Given the description of an element on the screen output the (x, y) to click on. 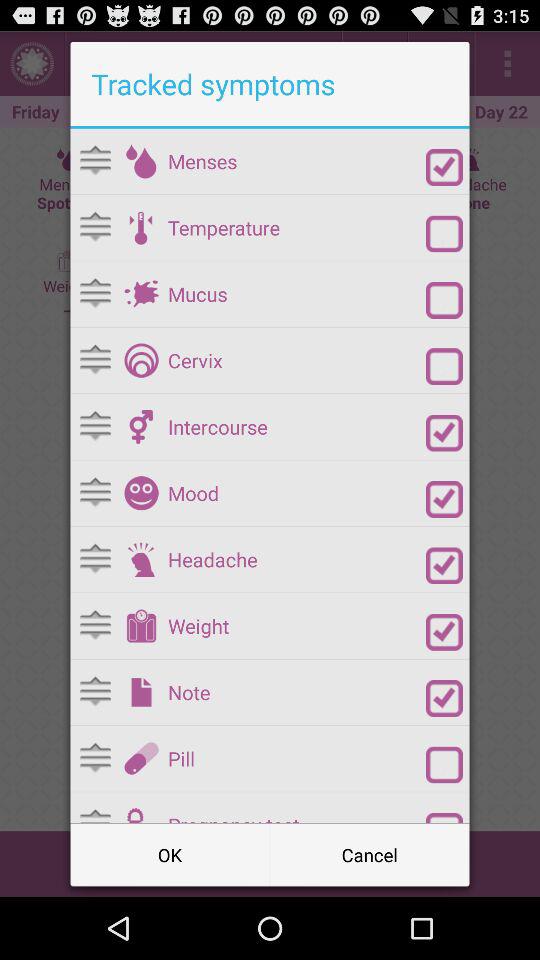
go to mucus (141, 294)
